Given the description of an element on the screen output the (x, y) to click on. 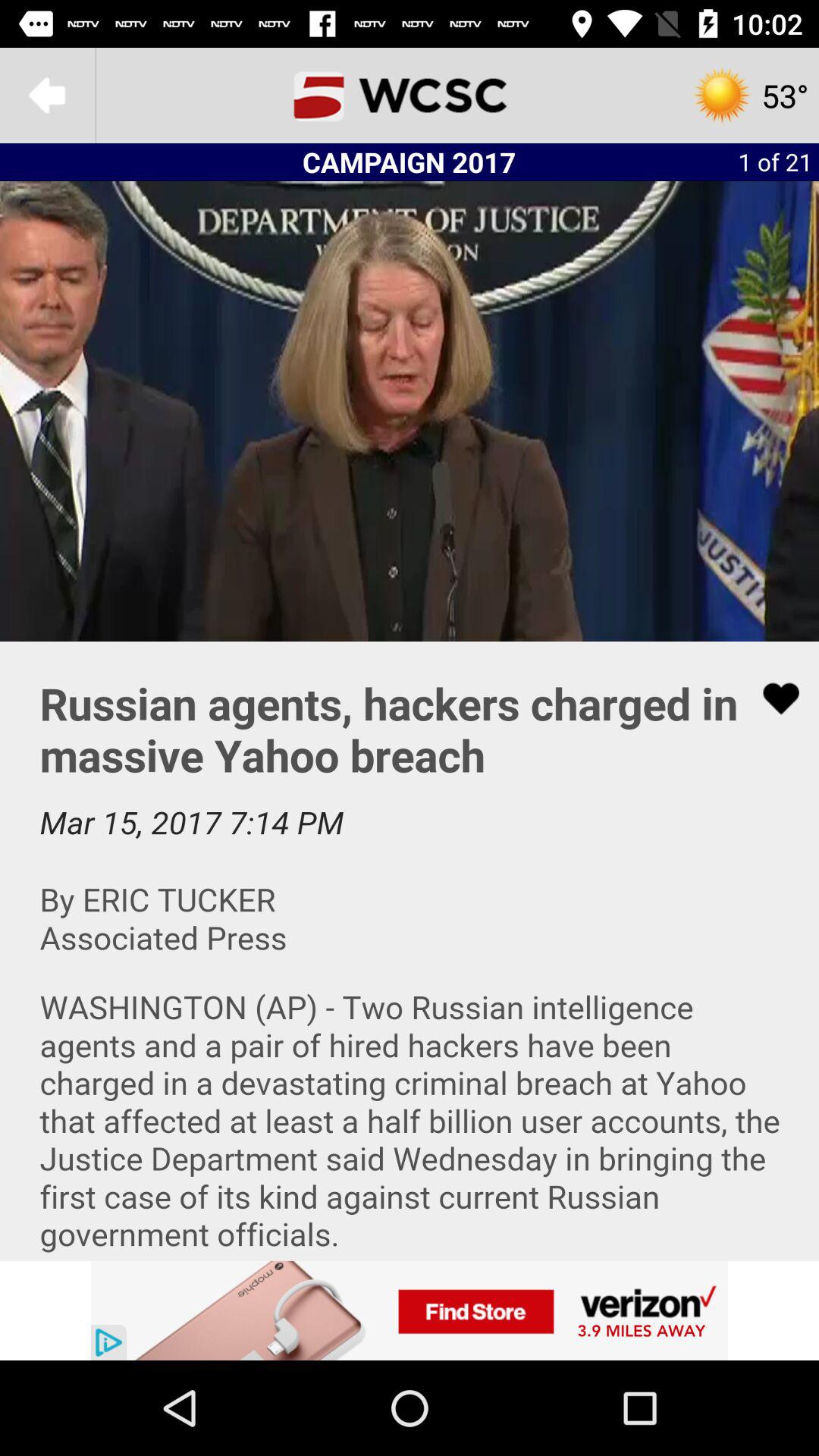
view main page (409, 95)
